Given the description of an element on the screen output the (x, y) to click on. 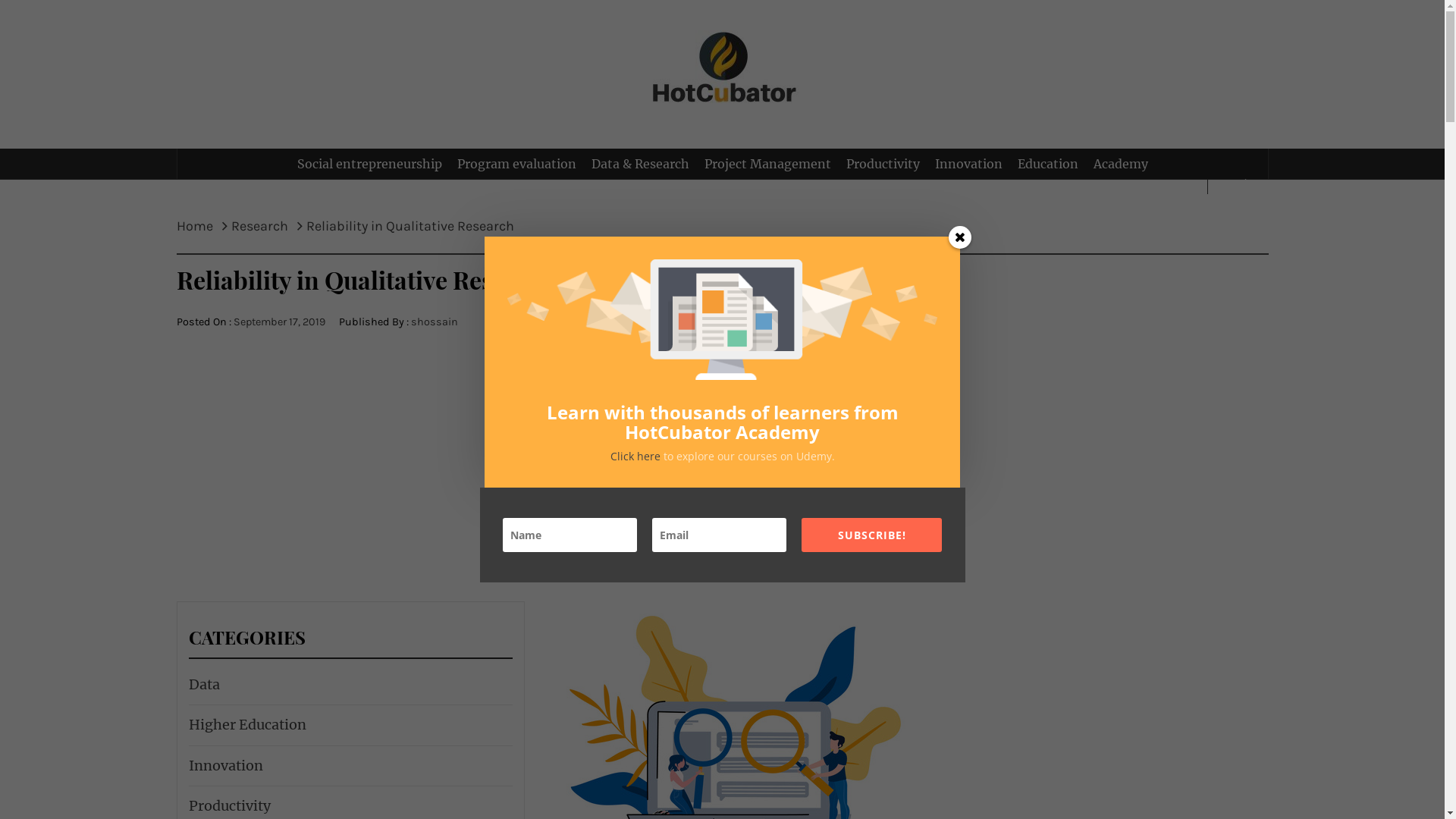
Advertisement Element type: hover (721, 448)
Productivity Element type: text (882, 163)
Social entrepreneurship Element type: text (369, 163)
September 17, 2019 Element type: text (279, 321)
shossain Element type: text (434, 321)
Data & Research Element type: text (639, 163)
Program evaluation Element type: text (515, 163)
Innovation Element type: text (224, 765)
Home Element type: text (198, 225)
Research Element type: text (258, 225)
Higher Education Element type: text (245, 724)
Data Element type: text (202, 684)
HOTCUBATOR | LEARN| GROW| CATALYSE Element type: text (721, 202)
Search Element type: text (797, 37)
SUBSCRIBE! Element type: text (871, 534)
Innovation Element type: text (967, 163)
Project Management Element type: text (766, 163)
Education Element type: text (1047, 163)
Academy Element type: text (1120, 163)
Click here Element type: text (635, 455)
Productivity Element type: text (227, 805)
Reliability in Qualitative Research Element type: text (410, 225)
